Given the description of an element on the screen output the (x, y) to click on. 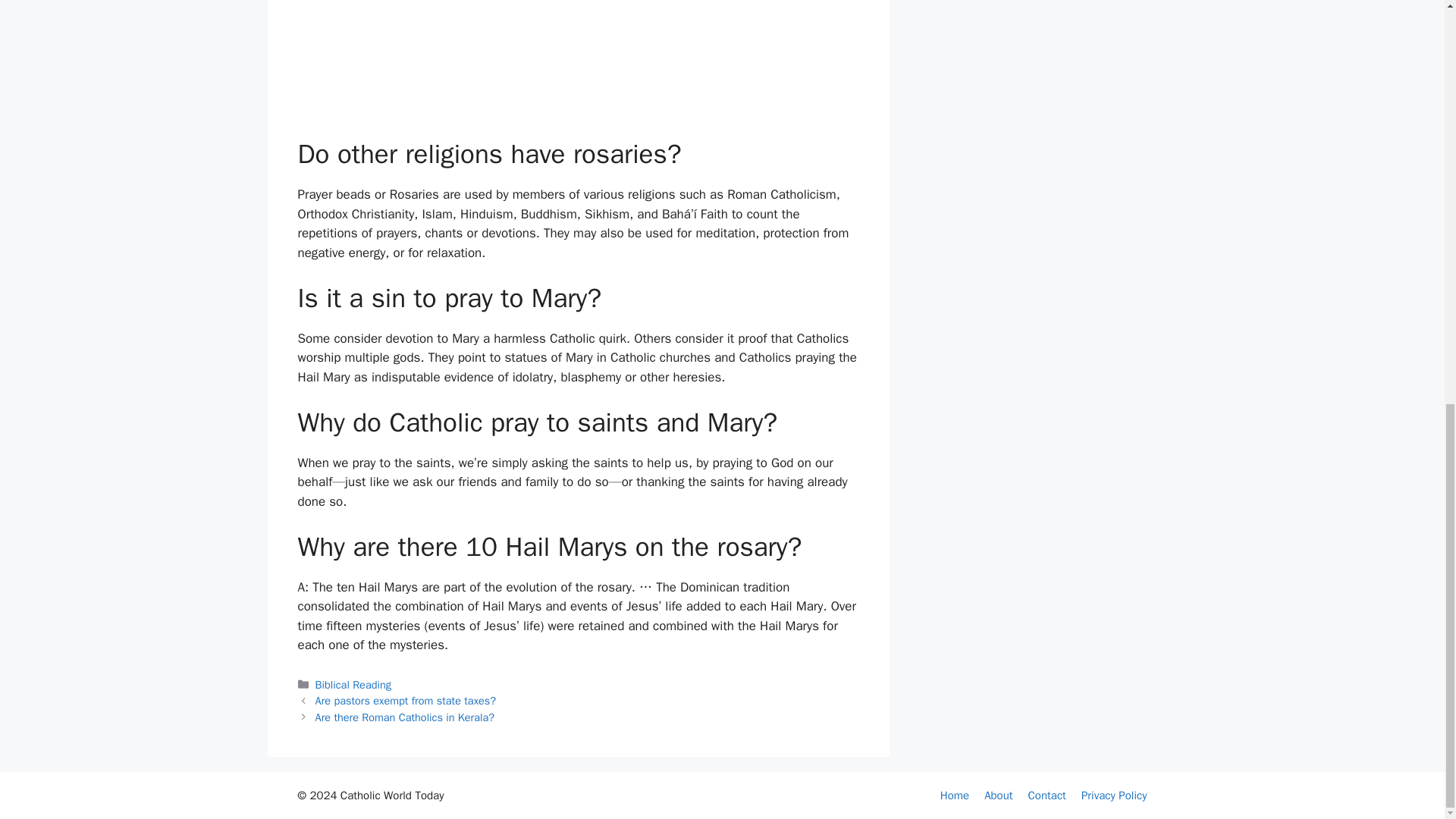
Scroll back to top (1406, 741)
Contact (1046, 795)
Are there Roman Catholics in Kerala? (405, 716)
Biblical Reading (353, 684)
Home (954, 795)
Are pastors exempt from state taxes? (405, 700)
About (997, 795)
Privacy Policy (1114, 795)
